Given the description of an element on the screen output the (x, y) to click on. 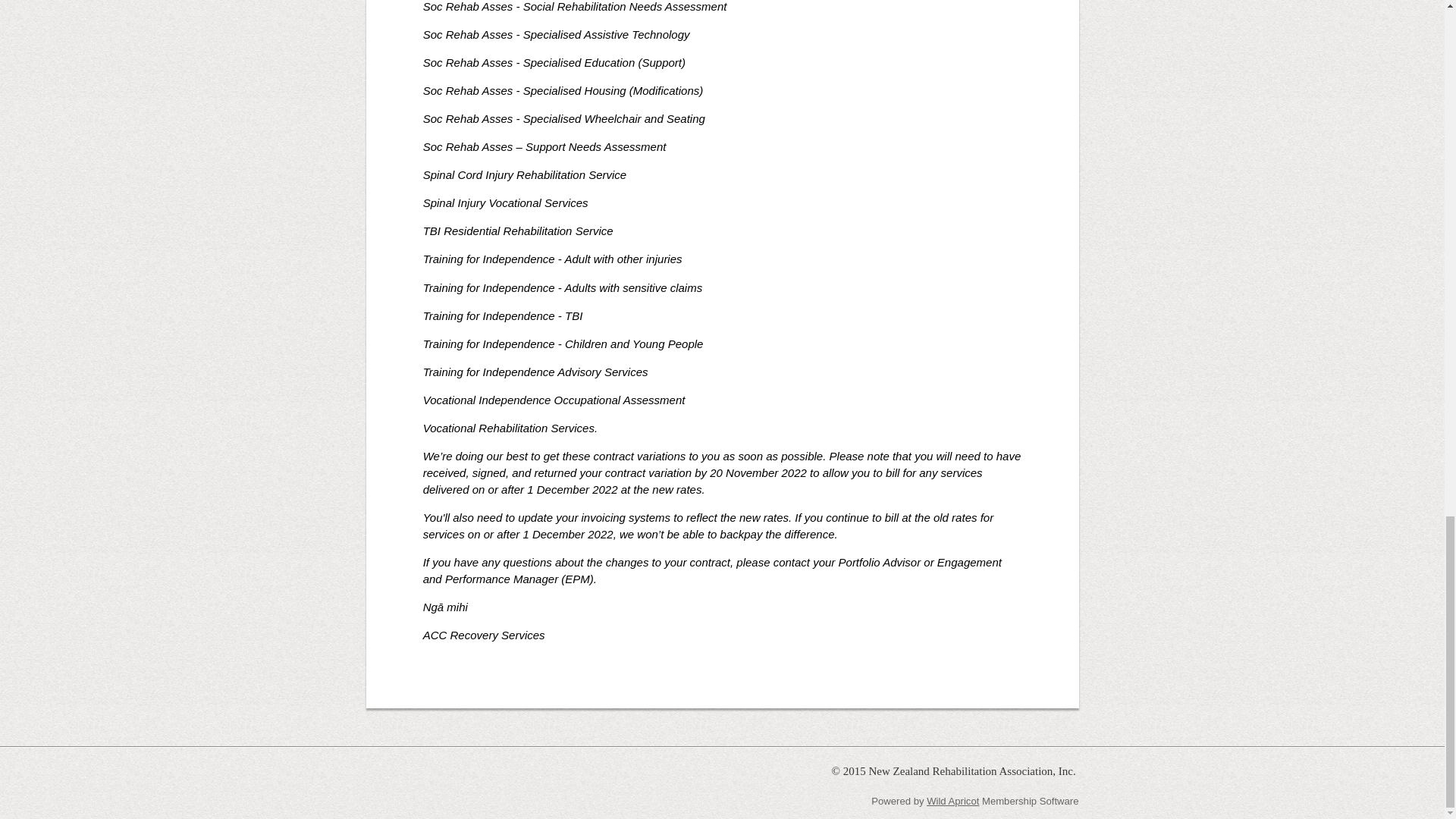
Wild Apricot (952, 800)
